Given the description of an element on the screen output the (x, y) to click on. 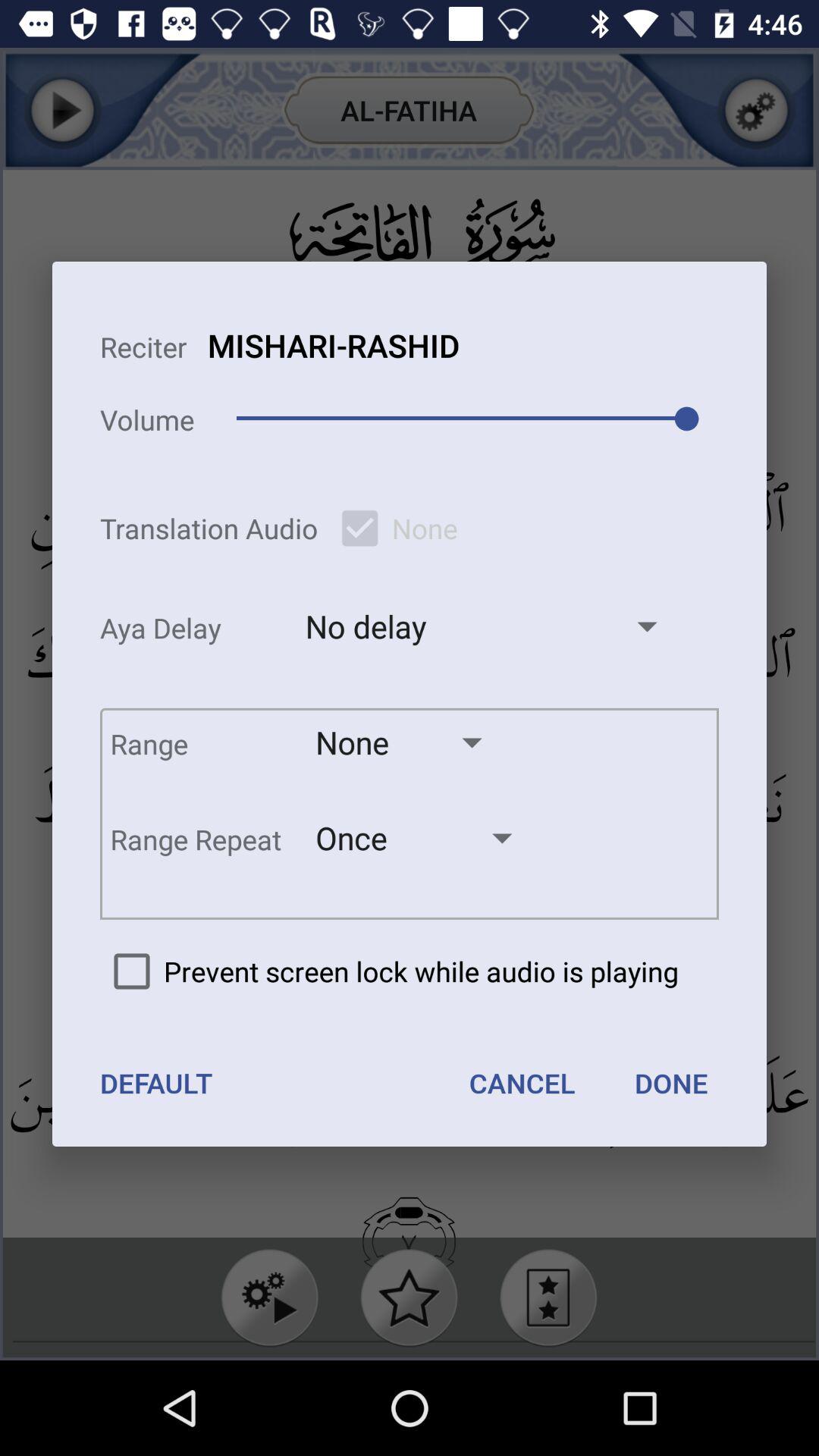
select the item below range repeat (389, 971)
